Given the description of an element on the screen output the (x, y) to click on. 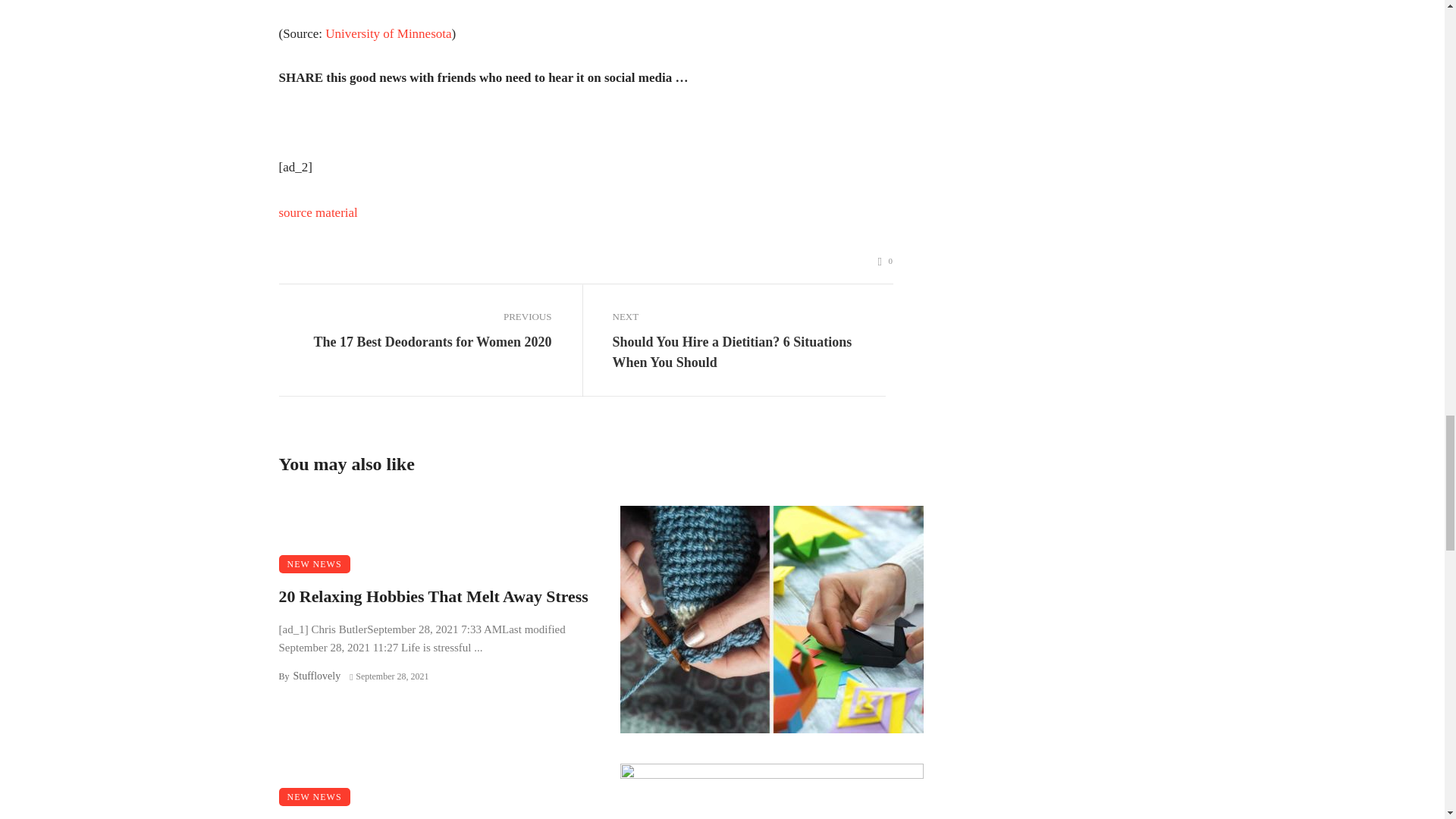
Stufflovely (316, 675)
0 Comments (885, 260)
University of Minnesota (387, 33)
NEXT (748, 316)
Should You Hire a Dietitian? 6 Situations When You Should (748, 352)
PREVIOUS (415, 316)
source material (318, 212)
NEW NEWS (314, 796)
20 Relaxing Hobbies That Melt Away Stress (433, 596)
NEW NEWS (314, 564)
The 17 Best Deodorants for Women 2020 (432, 342)
0 (885, 260)
September 28, 2021 at 11:21 pm (388, 675)
